Given the description of an element on the screen output the (x, y) to click on. 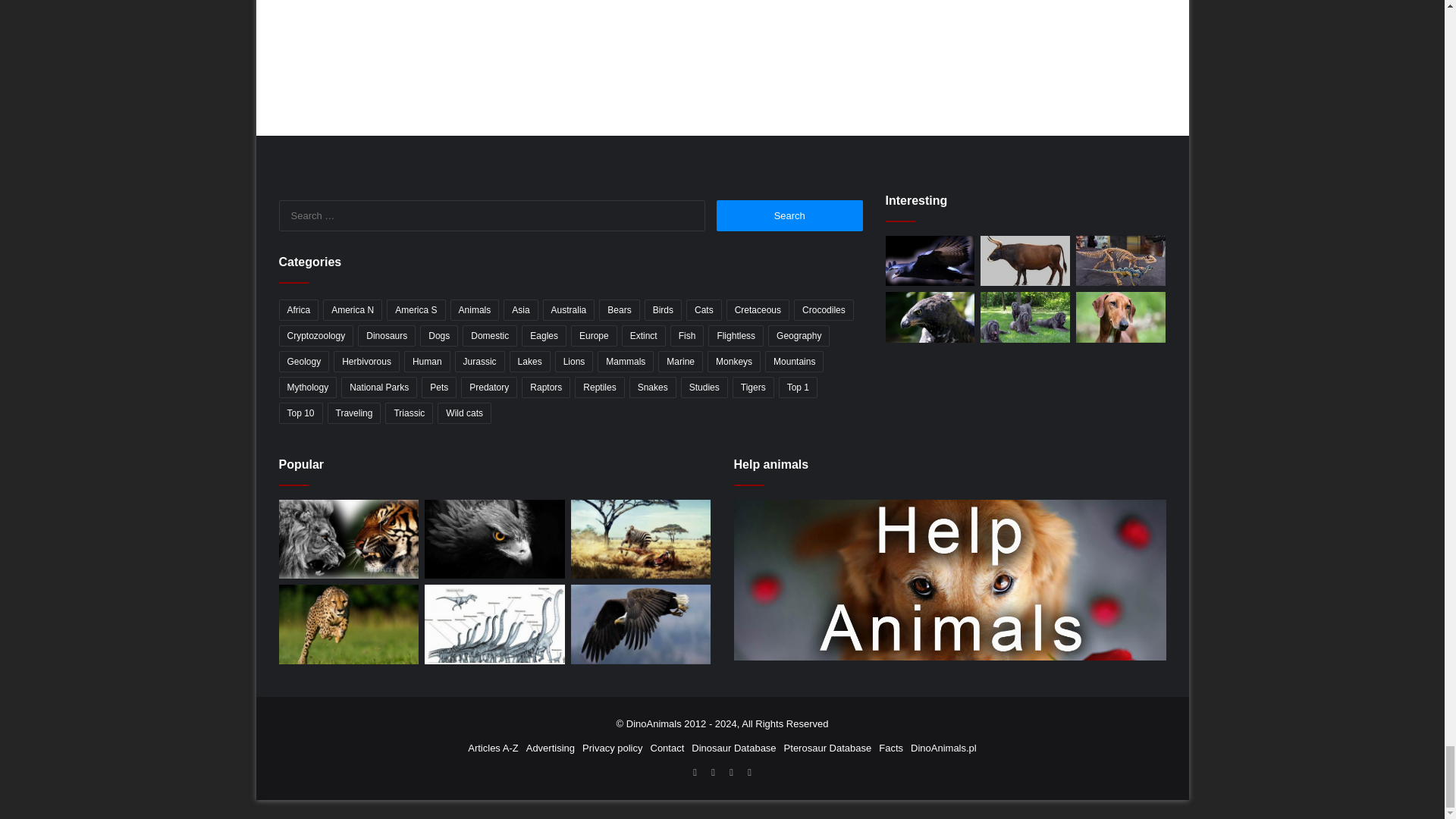
Search (789, 214)
Search (789, 214)
